Given the description of an element on the screen output the (x, y) to click on. 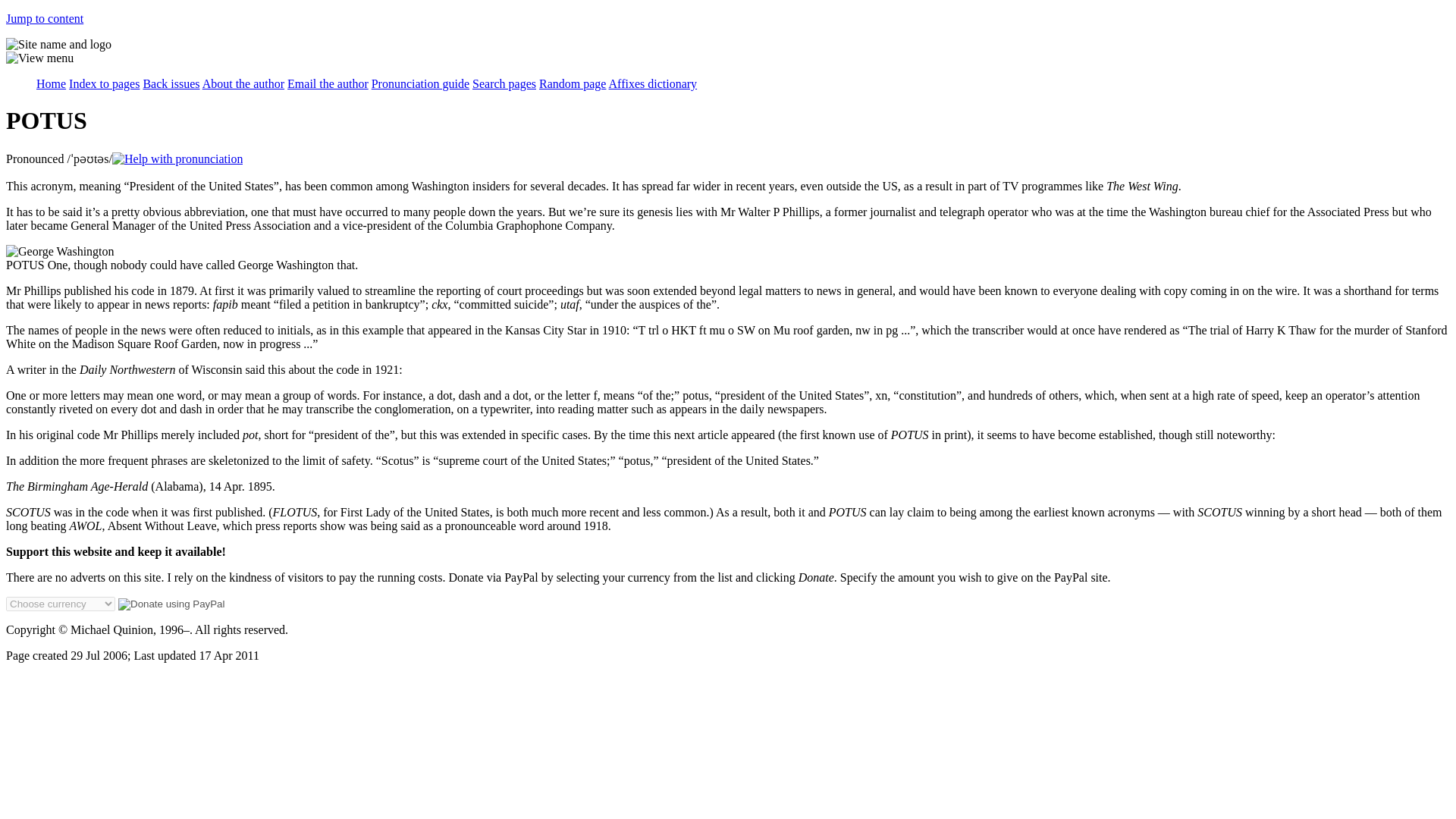
Jump to content (43, 18)
Pronunciation guide (419, 83)
Affixes dictionary (652, 83)
Back issues (170, 83)
Help with pronunciation (177, 159)
About the author (242, 83)
Search pages (503, 83)
Random page (571, 83)
Index to pages (103, 83)
Home (50, 83)
